Given the description of an element on the screen output the (x, y) to click on. 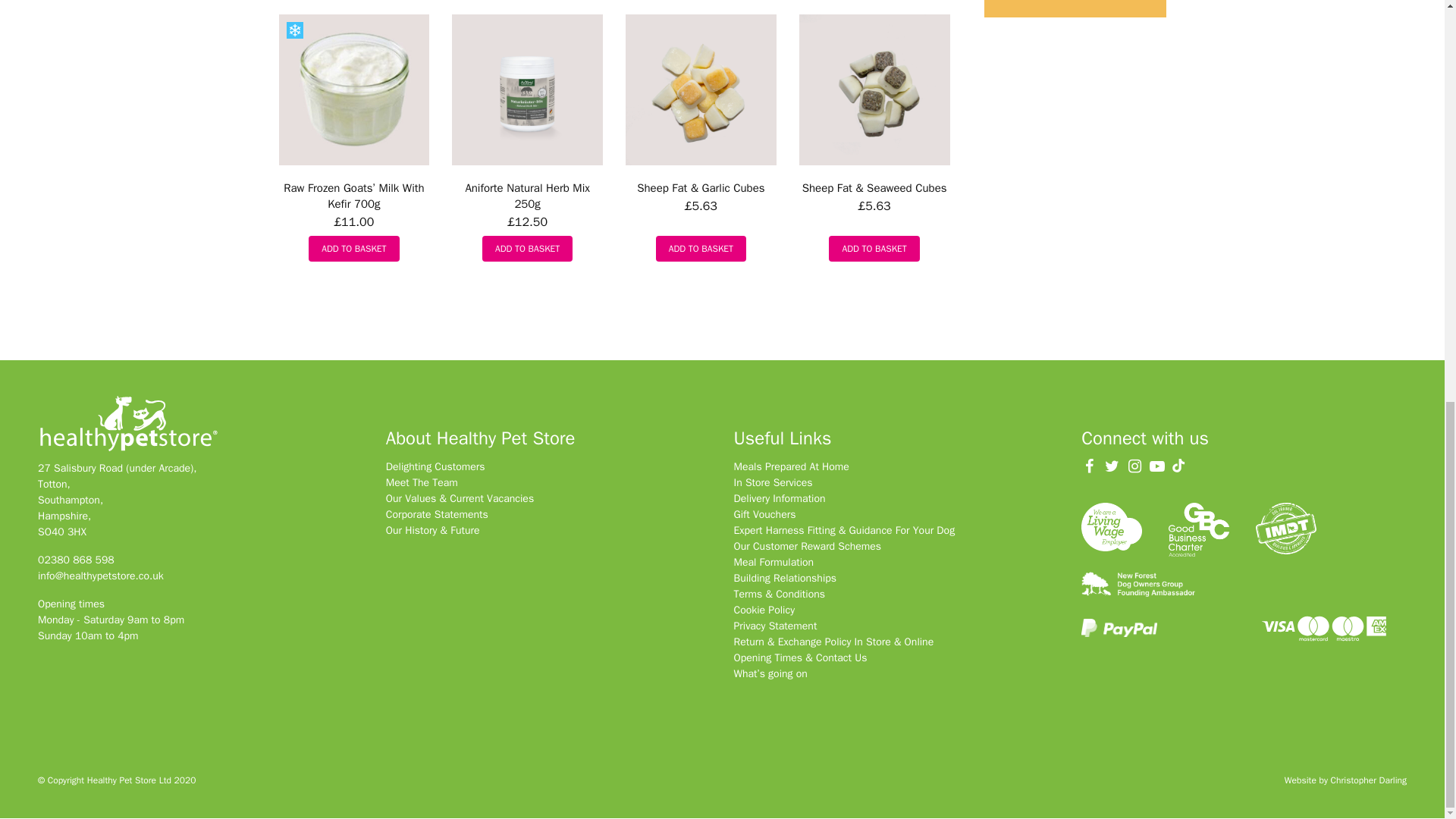
ADD TO BASKET (353, 248)
ADD TO BASKET (526, 248)
Aniforte Natural Herb Mix 250g (526, 89)
Aniforte Natural Herb Mix 250g (526, 195)
Aniforte Natural Herb Mix 250g (526, 195)
ADD TO BASKET (700, 248)
